Given the description of an element on the screen output the (x, y) to click on. 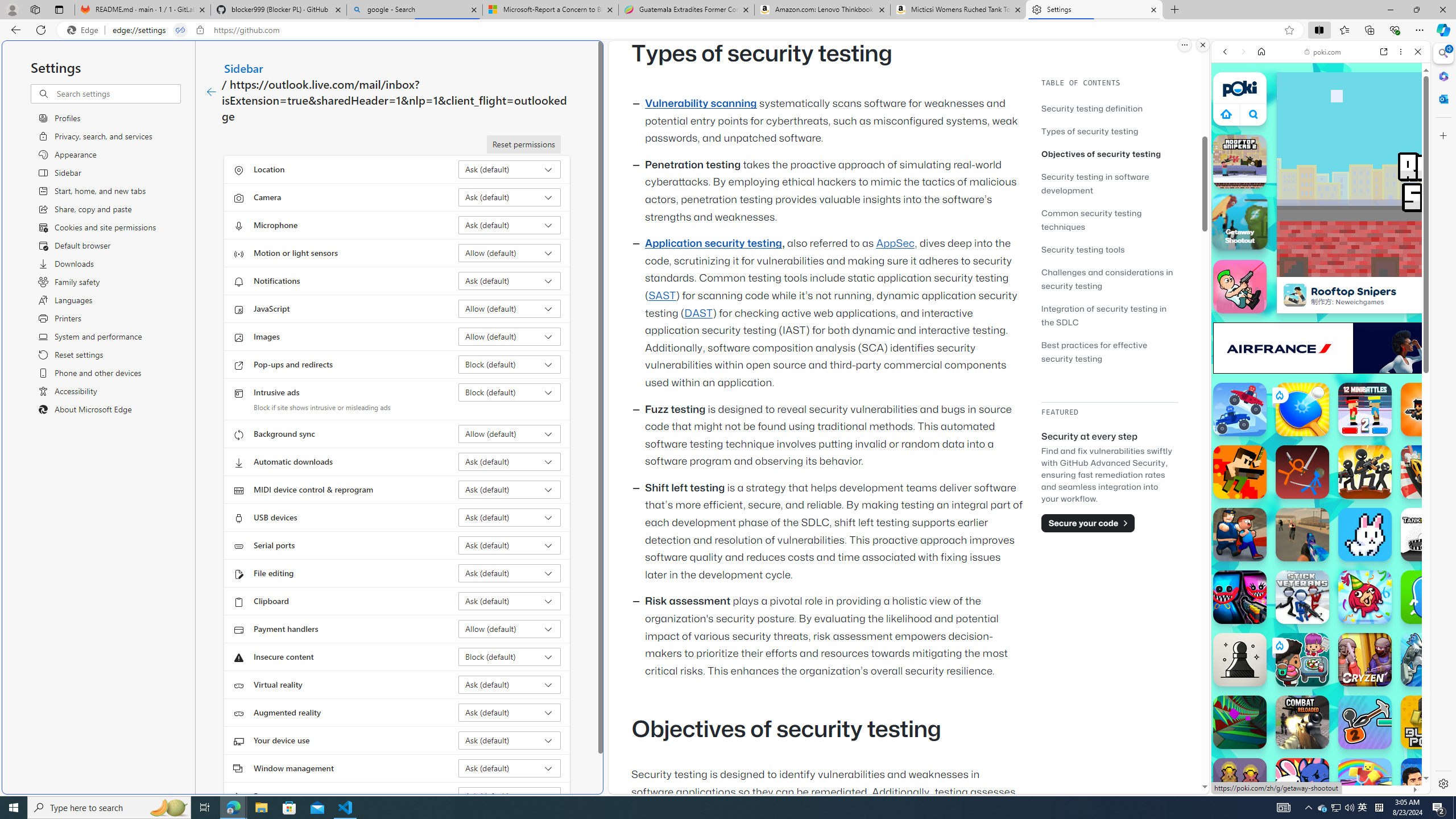
Serial ports Ask (default) (509, 545)
Stick Defenders (1364, 471)
Reset permissions (523, 144)
Security testing tools (1109, 249)
Intrusive ads Block (default) (509, 392)
Crazy Cars (1427, 471)
Animal Arena (1302, 784)
File editing Ask (default) (509, 573)
Bullet Bros Bullet Bros (1239, 286)
Goober World (1427, 597)
Class: hvLtMSipvVng82x9Seuh (1294, 295)
Sidebar (243, 67)
Battle Wheels Battle Wheels (1239, 409)
Tabs in split screen (180, 29)
